Given the description of an element on the screen output the (x, y) to click on. 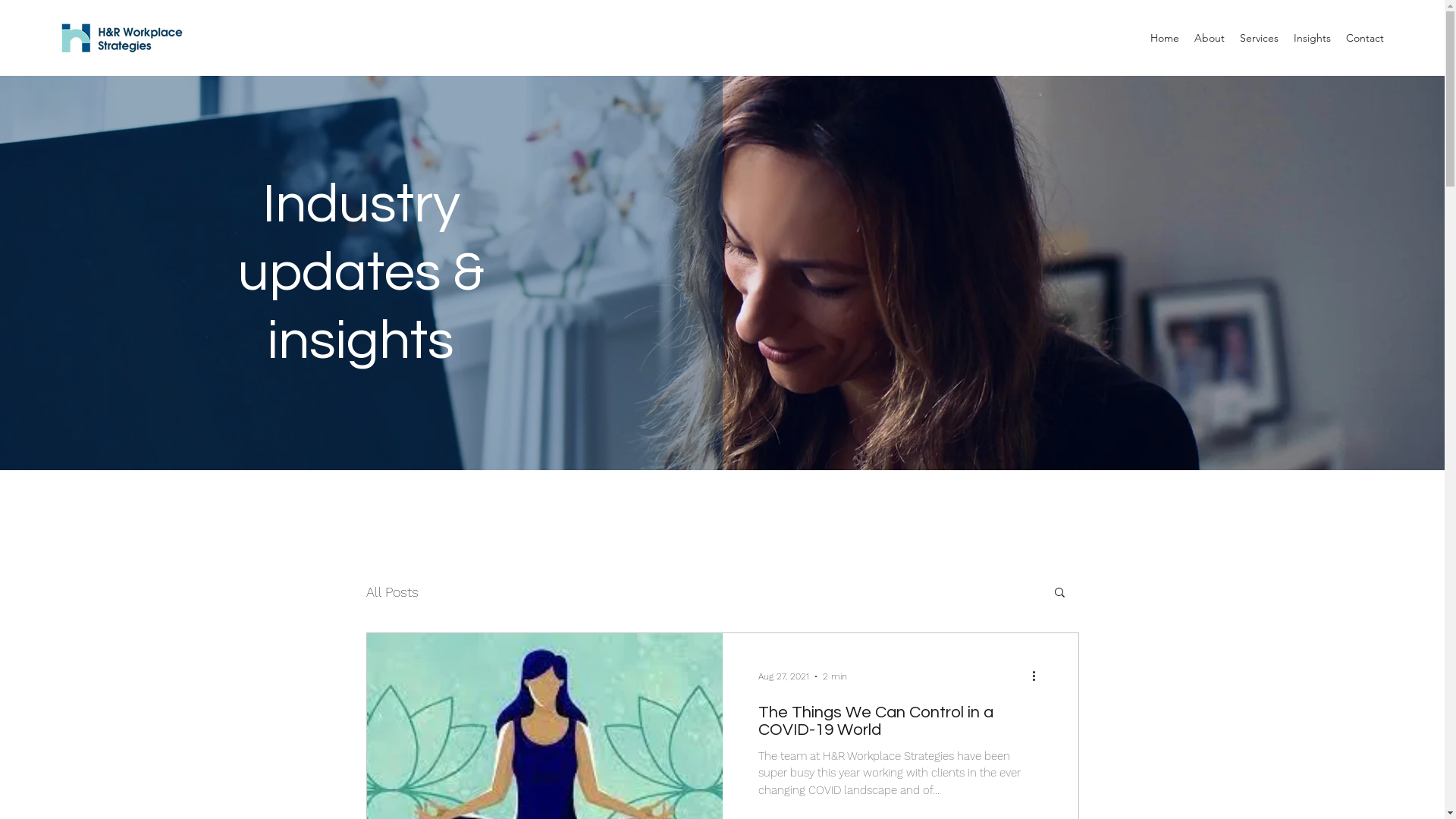
About Element type: text (1209, 37)
The Things We Can Control in a COVID-19 World Element type: text (899, 724)
Contact Element type: text (1364, 37)
Home Element type: text (1164, 37)
Insights Element type: text (1312, 37)
Services Element type: text (1259, 37)
All Posts Element type: text (391, 591)
